Given the description of an element on the screen output the (x, y) to click on. 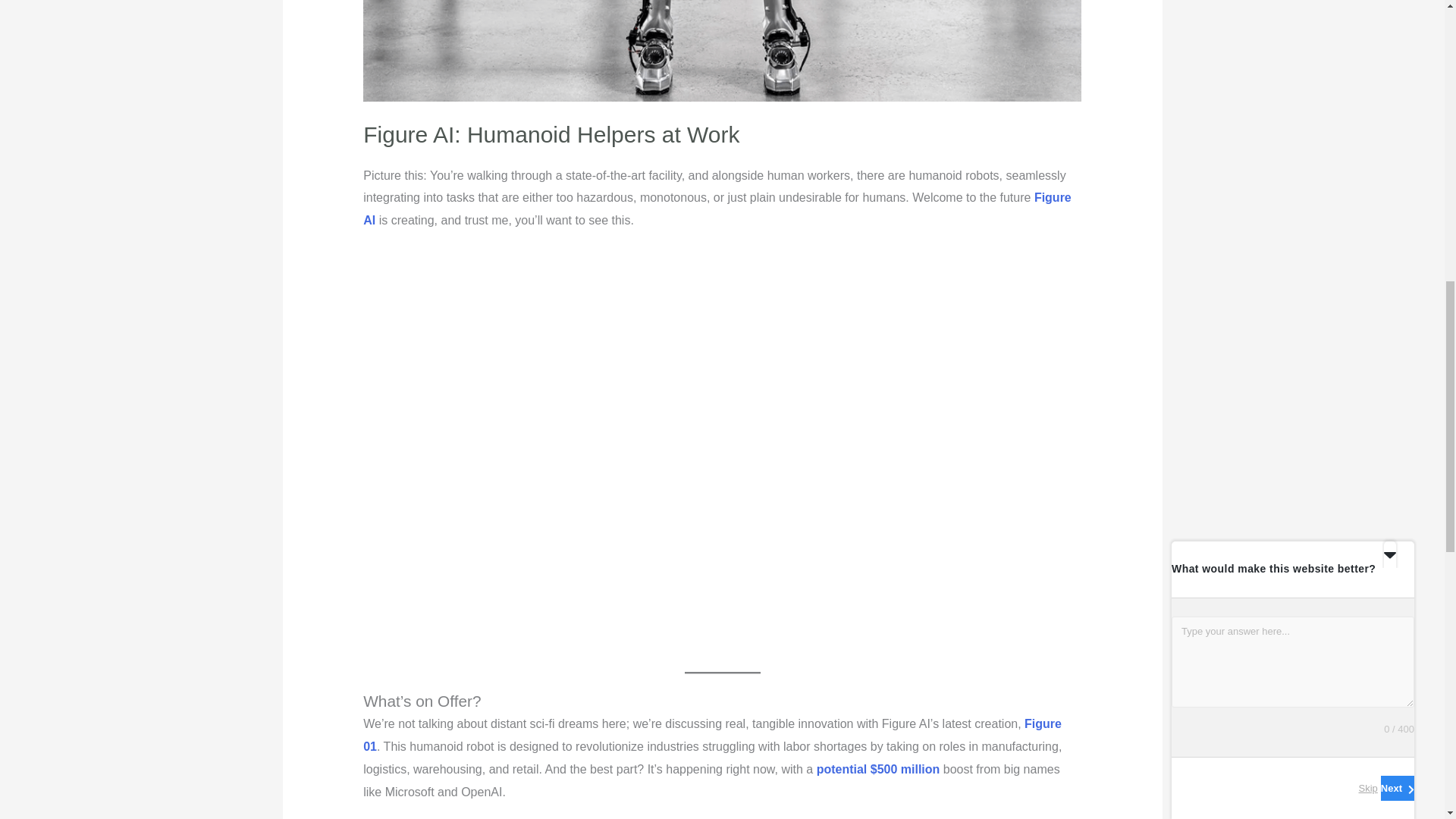
Figure AI (716, 208)
Figure AI: Humanoid Helpers at Work (550, 134)
Figure 01 (711, 734)
